Given the description of an element on the screen output the (x, y) to click on. 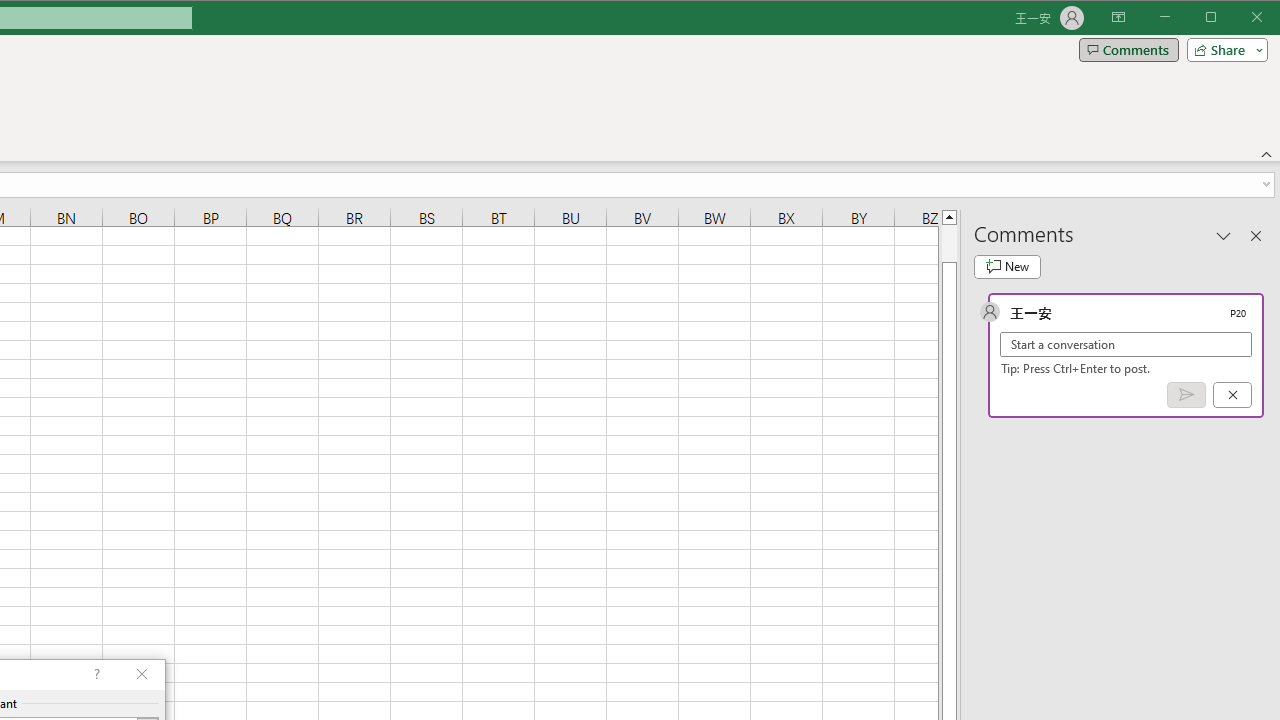
Page up (948, 243)
